Given the description of an element on the screen output the (x, y) to click on. 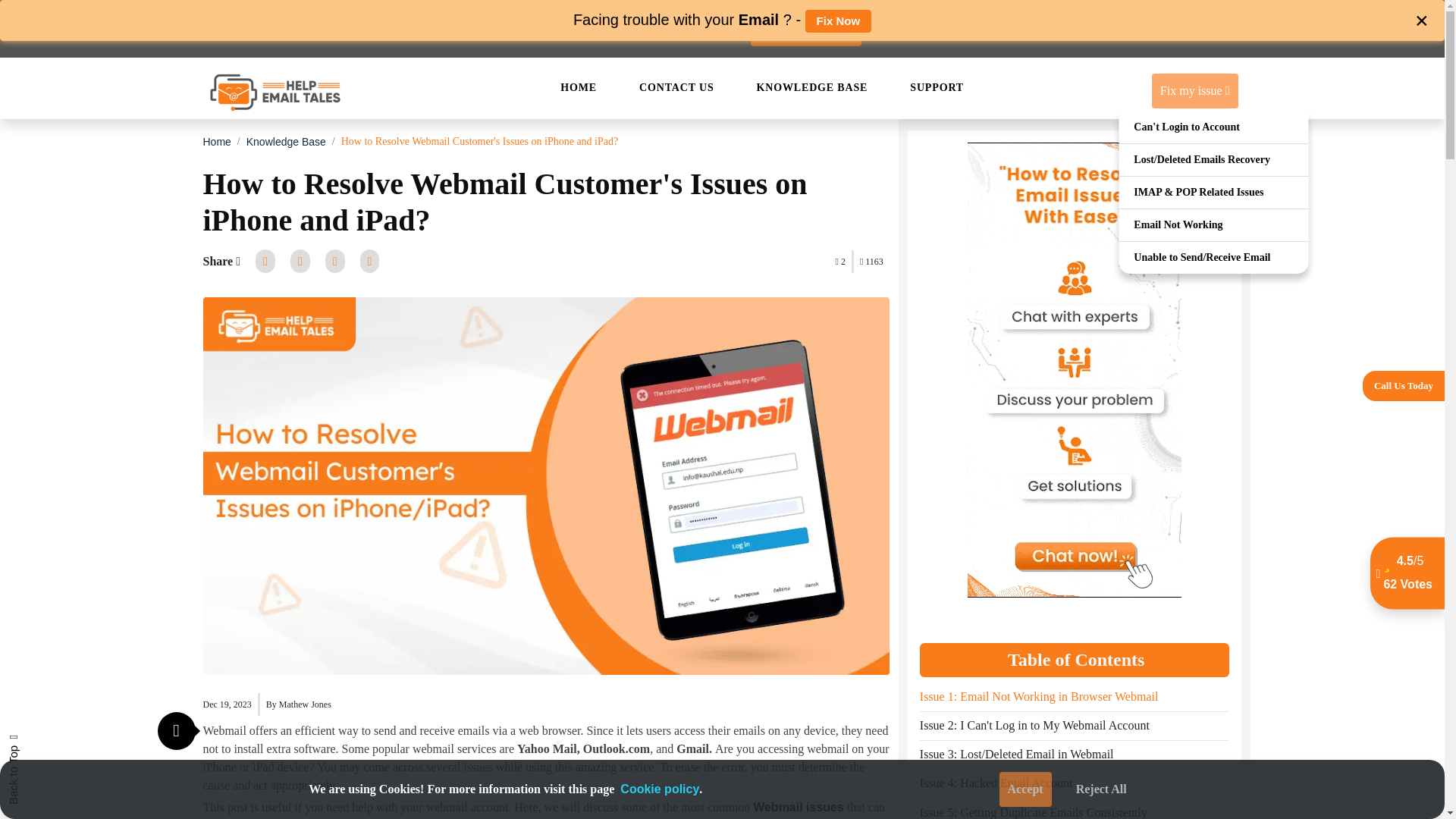
Facing trouble with your Email ? - Fix Now (721, 19)
Home (217, 141)
Free Consultation  (806, 28)
Webmail issues (798, 807)
Knowledge Base (286, 141)
KNOWLEDGE BASE (813, 87)
SUPPORT (936, 87)
Fix my issue (1195, 90)
CONTACT US (676, 87)
Back to top (36, 745)
